Given the description of an element on the screen output the (x, y) to click on. 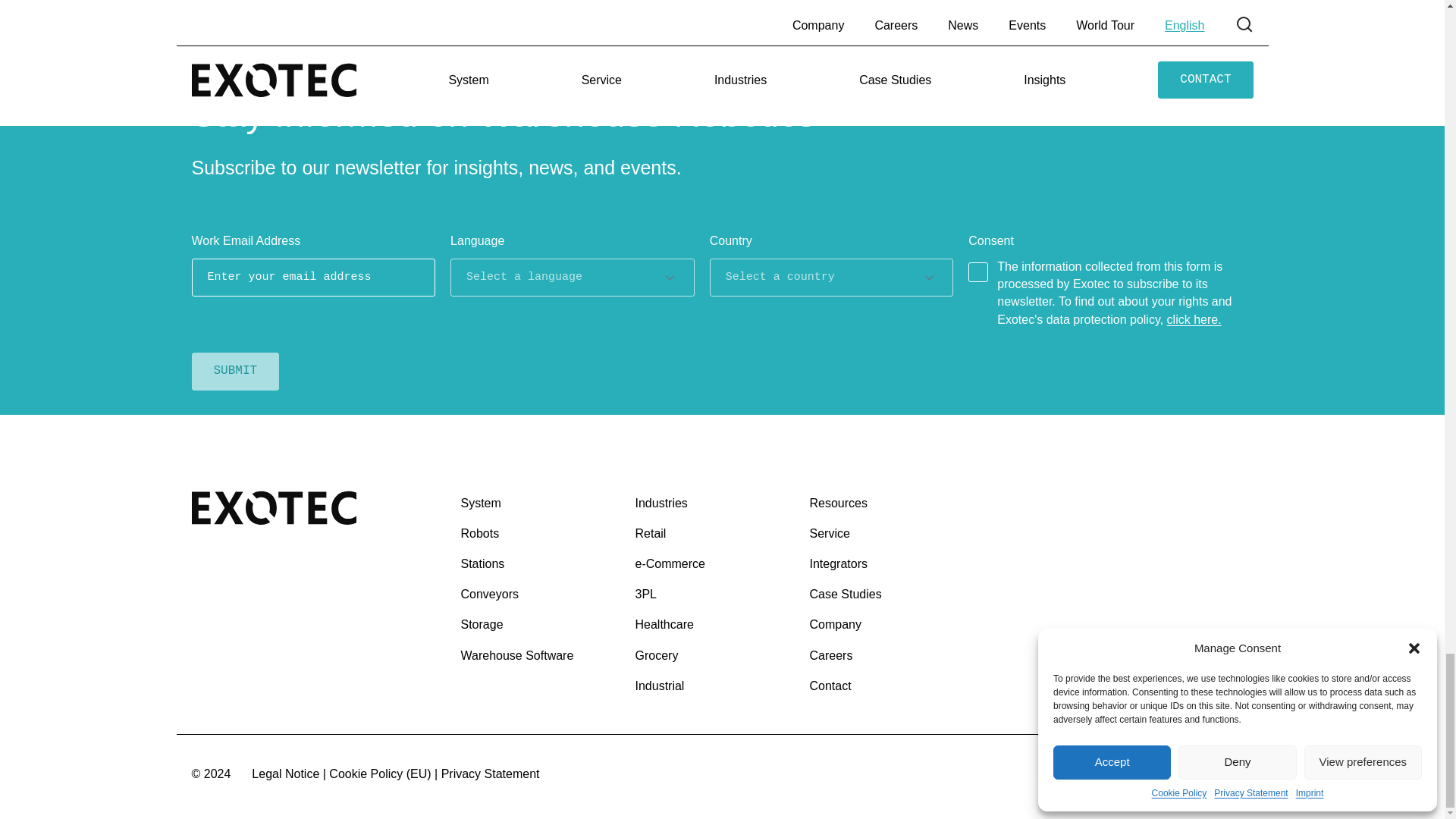
Submit (234, 371)
1 (978, 271)
